Given the description of an element on the screen output the (x, y) to click on. 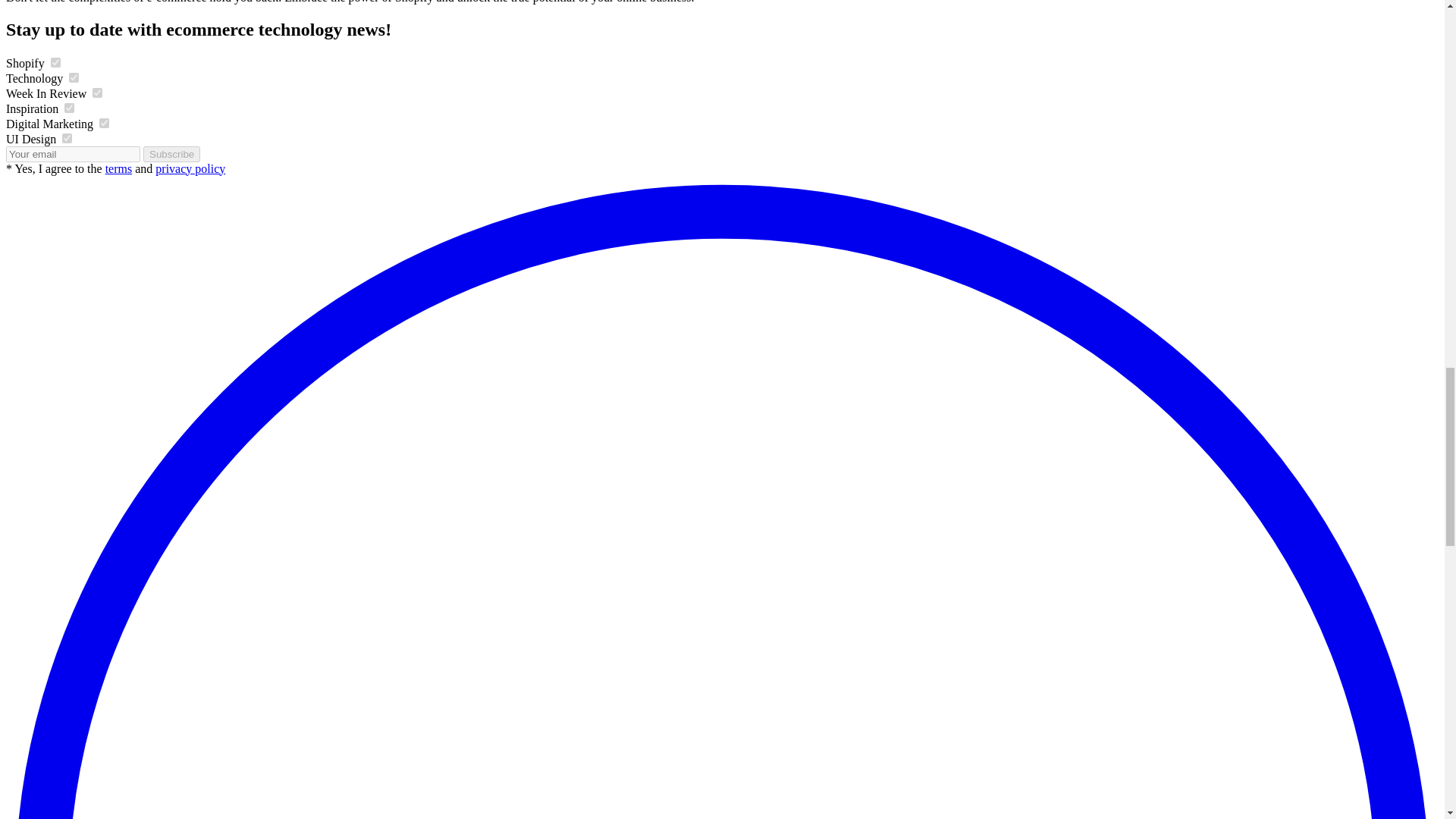
terms (118, 168)
on (69, 108)
on (104, 122)
on (97, 92)
on (66, 138)
Subscribe (171, 154)
on (73, 77)
privacy policy (190, 168)
on (55, 62)
